Given the description of an element on the screen output the (x, y) to click on. 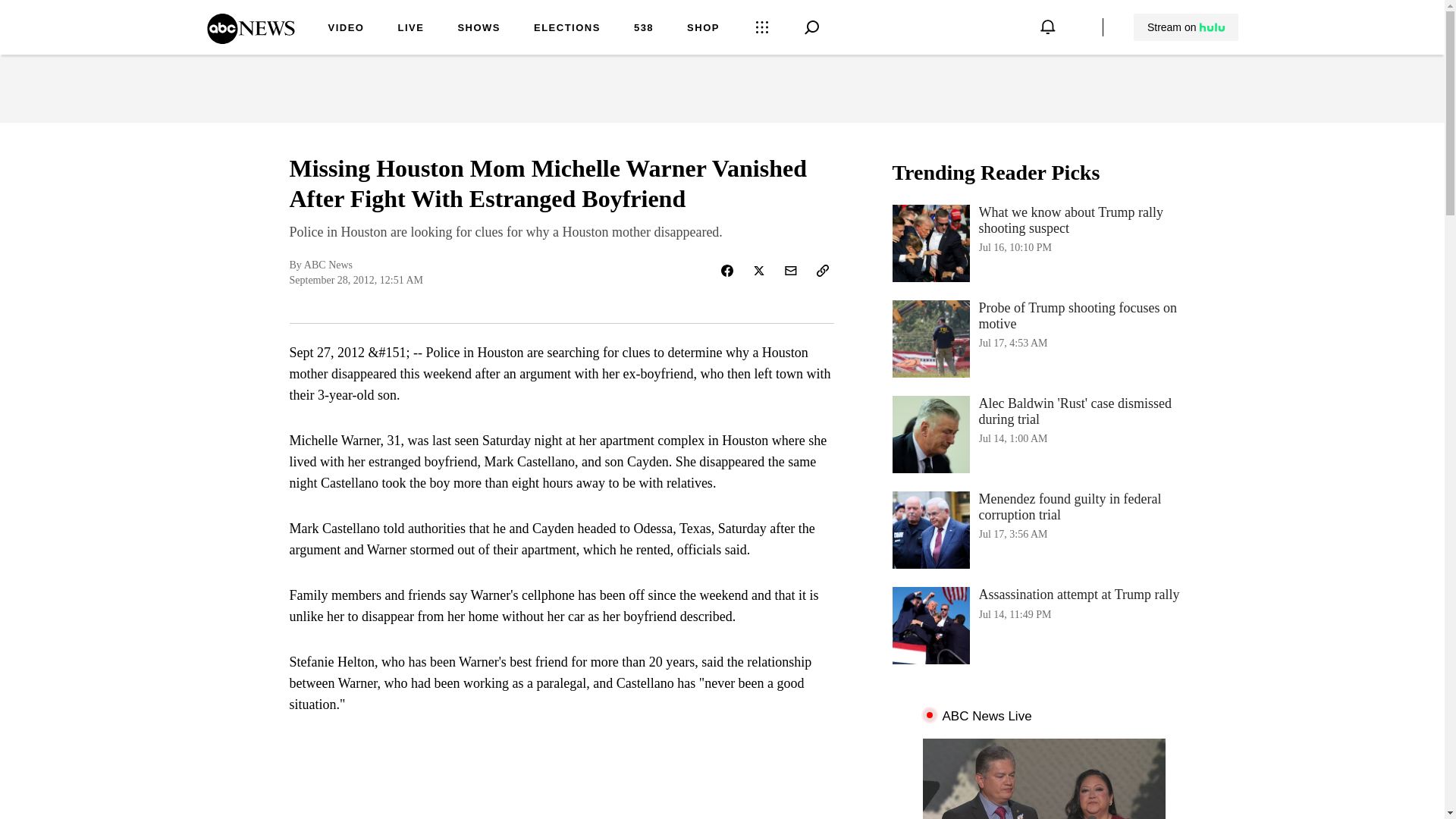
SHOP (703, 28)
ELECTIONS (566, 28)
ABC News (250, 38)
SHOWS (478, 28)
Stream on (1185, 27)
538 (643, 28)
VIDEO (1043, 625)
Stream on (345, 28)
LIVE (1186, 26)
